Given the description of an element on the screen output the (x, y) to click on. 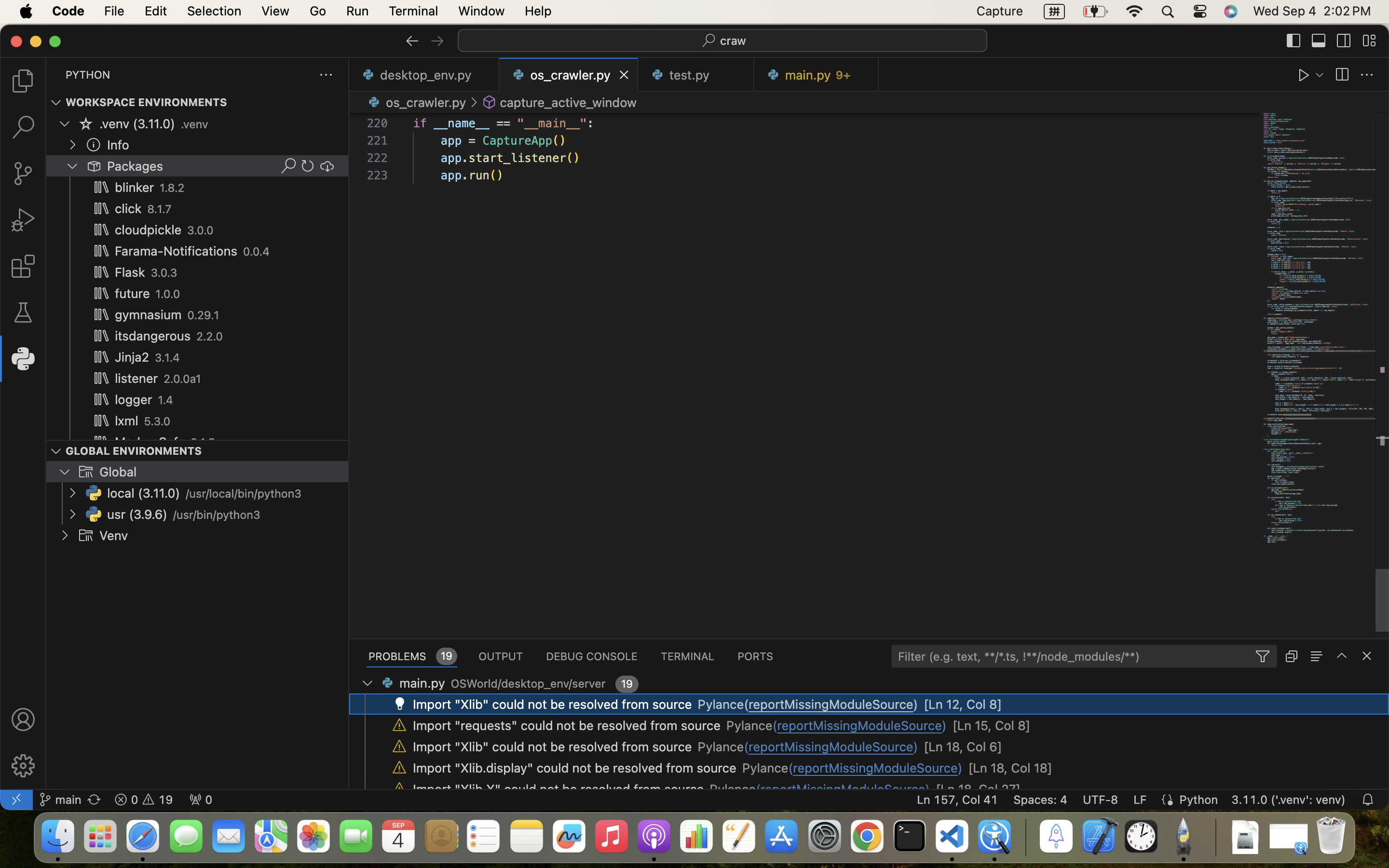
gymnasium Element type: AXStaticText (148, 314)
future Element type: AXStaticText (132, 293)
3.1.4 Element type: AXStaticText (167, 357)
 Element type: AXButton (412, 40)
3.0.0 Element type: AXStaticText (200, 230)
